Given the description of an element on the screen output the (x, y) to click on. 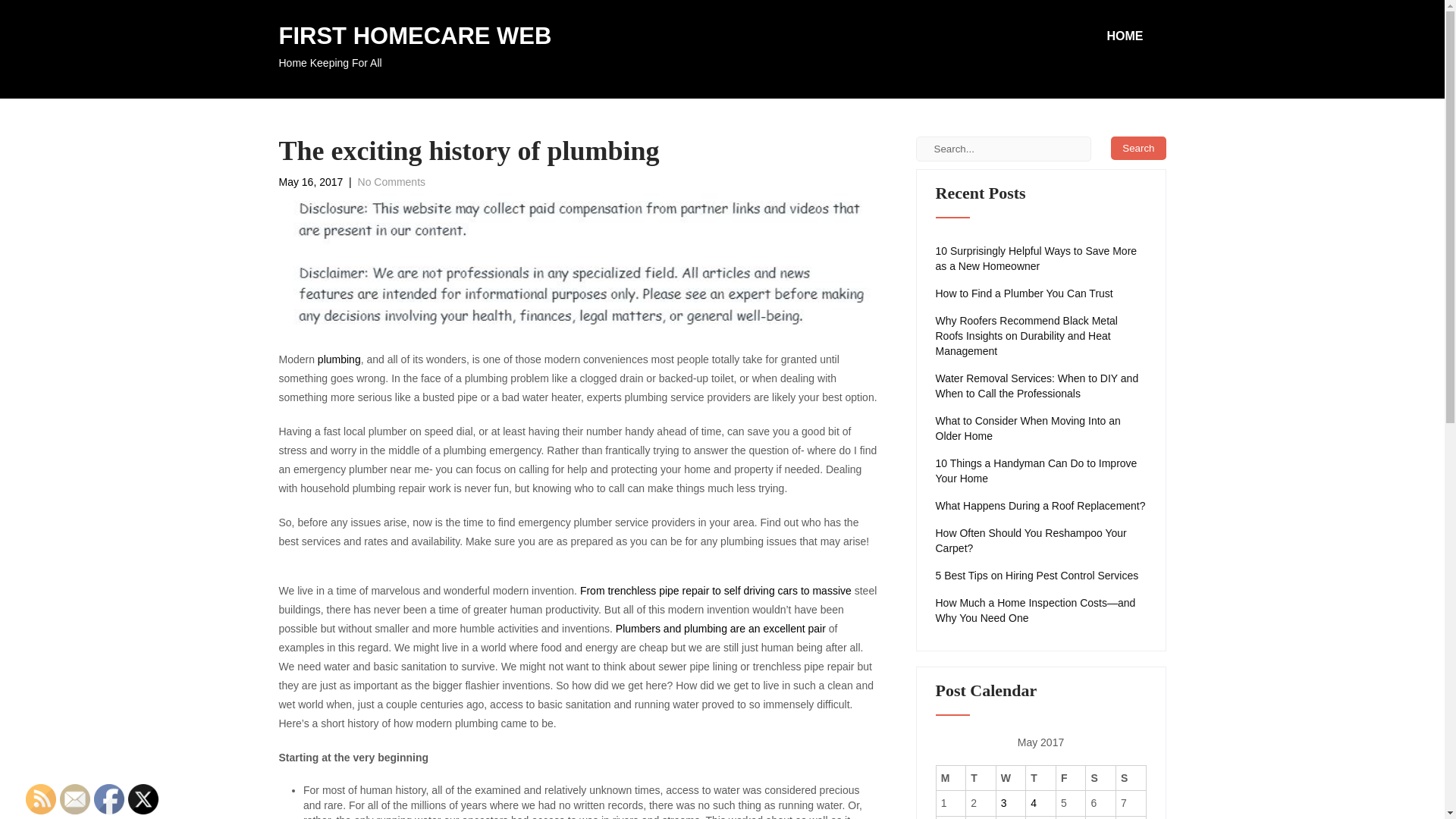
Friday (415, 48)
Search (1071, 778)
Tuesday (1138, 147)
Heating and cooling (980, 778)
10 Things a Handyman Can Do to Improve Your Home (715, 590)
Facebook (1041, 470)
Thursday (108, 798)
5 Best Tips on Hiring Pest Control Services (1041, 778)
